Given the description of an element on the screen output the (x, y) to click on. 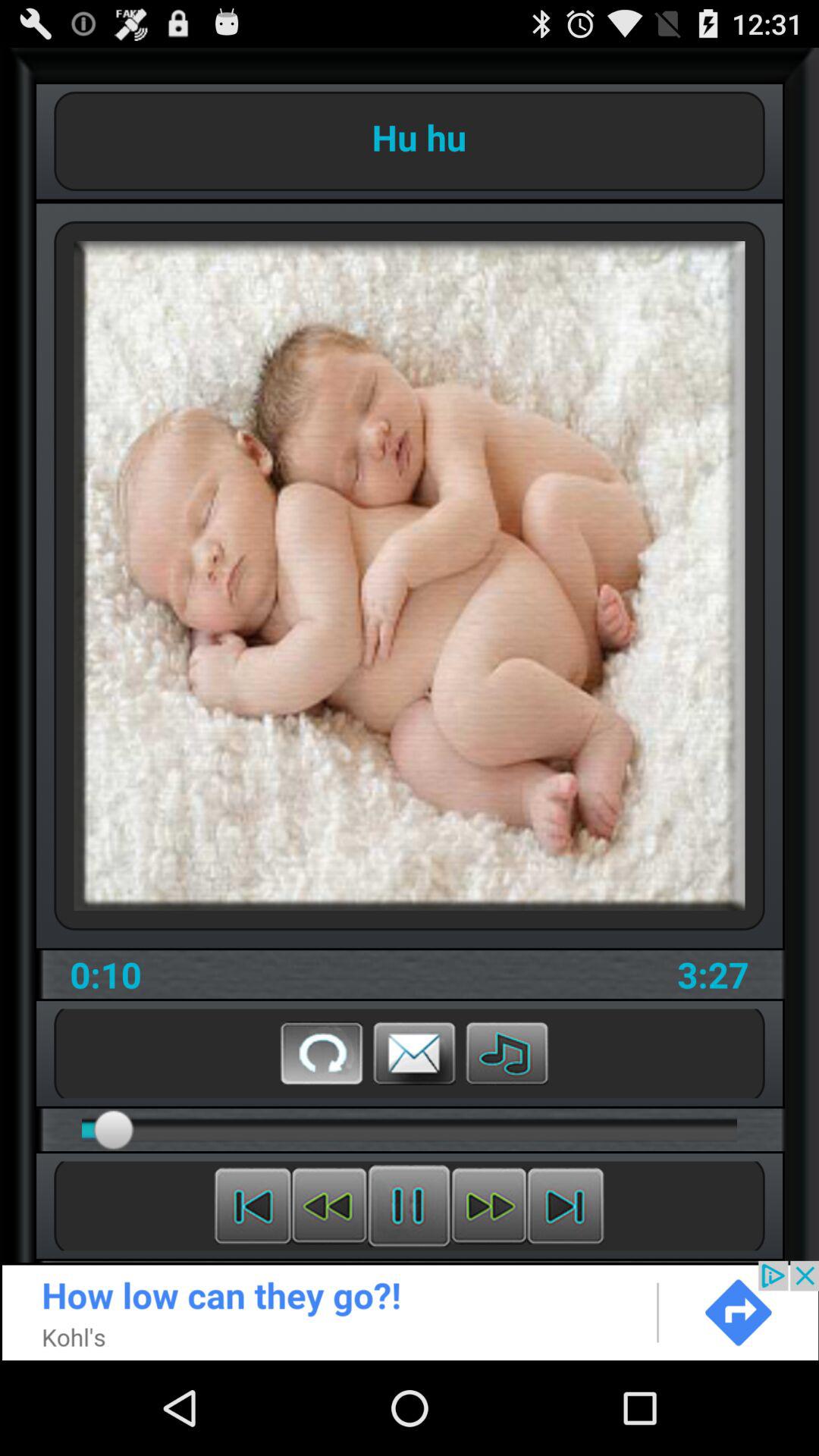
routating option (321, 1053)
